Given the description of an element on the screen output the (x, y) to click on. 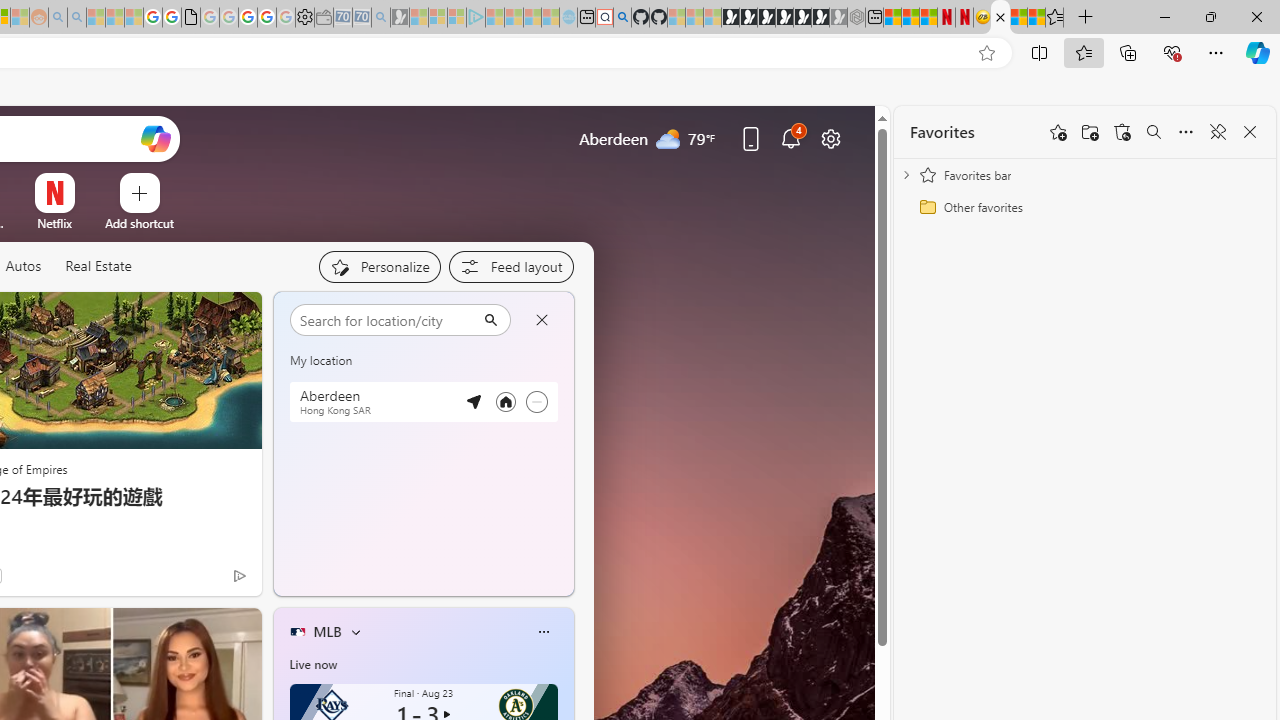
Autos (22, 265)
Netflix (54, 223)
Cannot remove (536, 401)
Class: weather-arrow-glyph (554, 367)
